Given the description of an element on the screen output the (x, y) to click on. 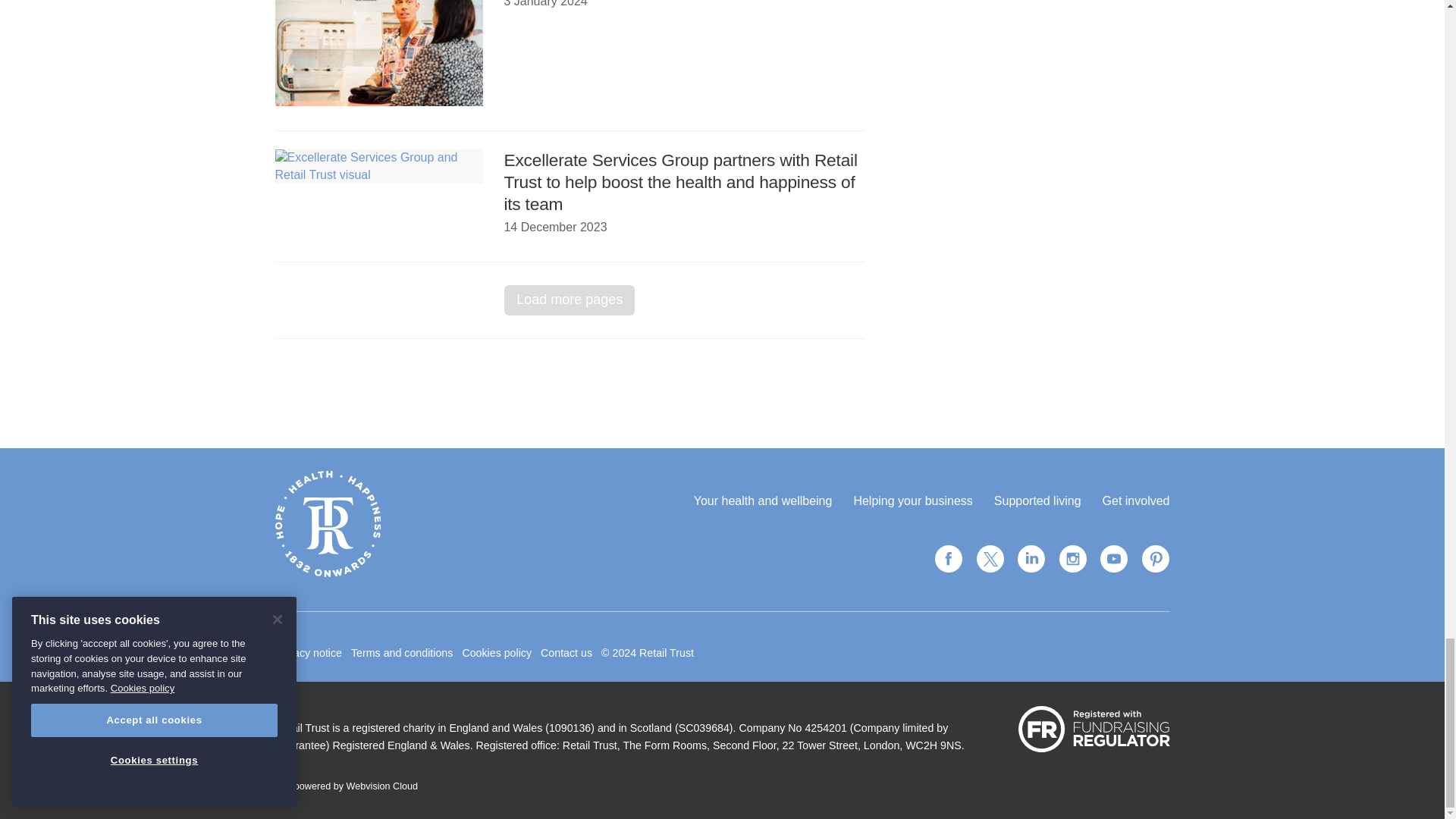
Connect with us on Facebook (948, 558)
Connect with us on Pinterest (1154, 558)
Connect with us on Linked in (1030, 558)
Connect with us on Youtube (1113, 558)
Connect with us on Twitter (989, 558)
Connect with us on Instagram (1072, 558)
